Given the description of an element on the screen output the (x, y) to click on. 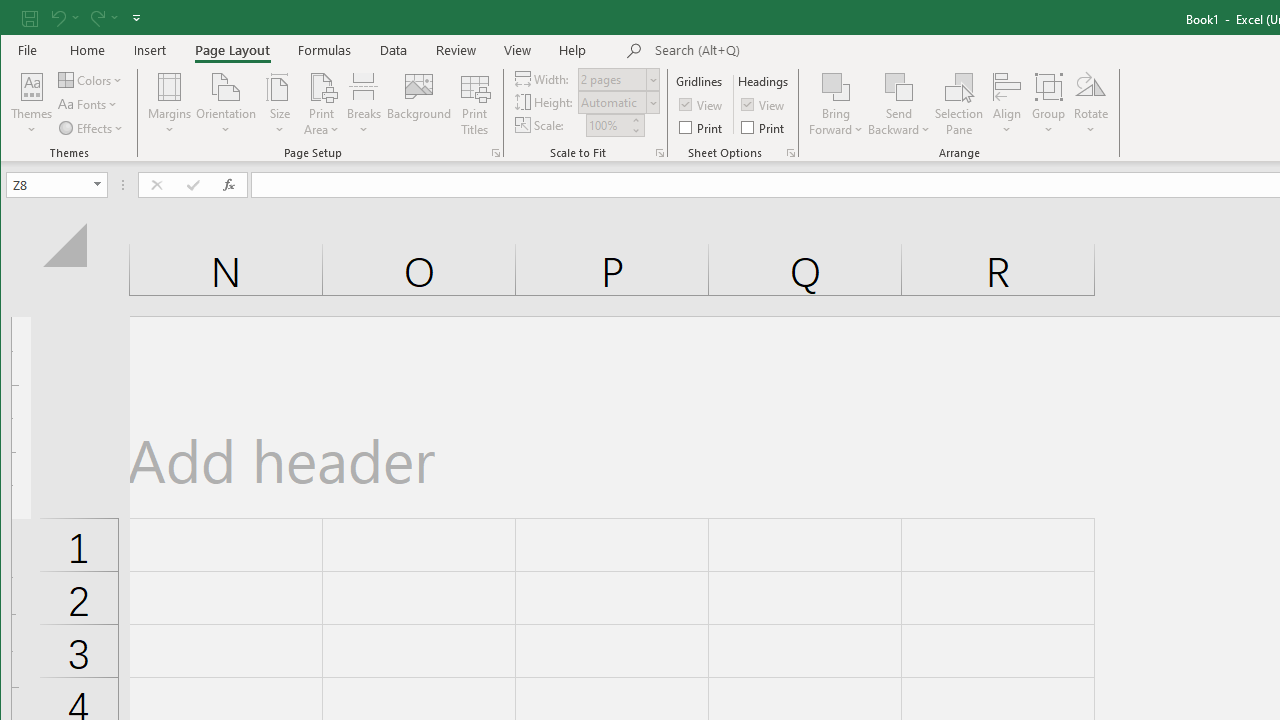
Height (612, 102)
Effects (92, 127)
Height (619, 101)
Bring Forward (836, 104)
